Given the description of an element on the screen output the (x, y) to click on. 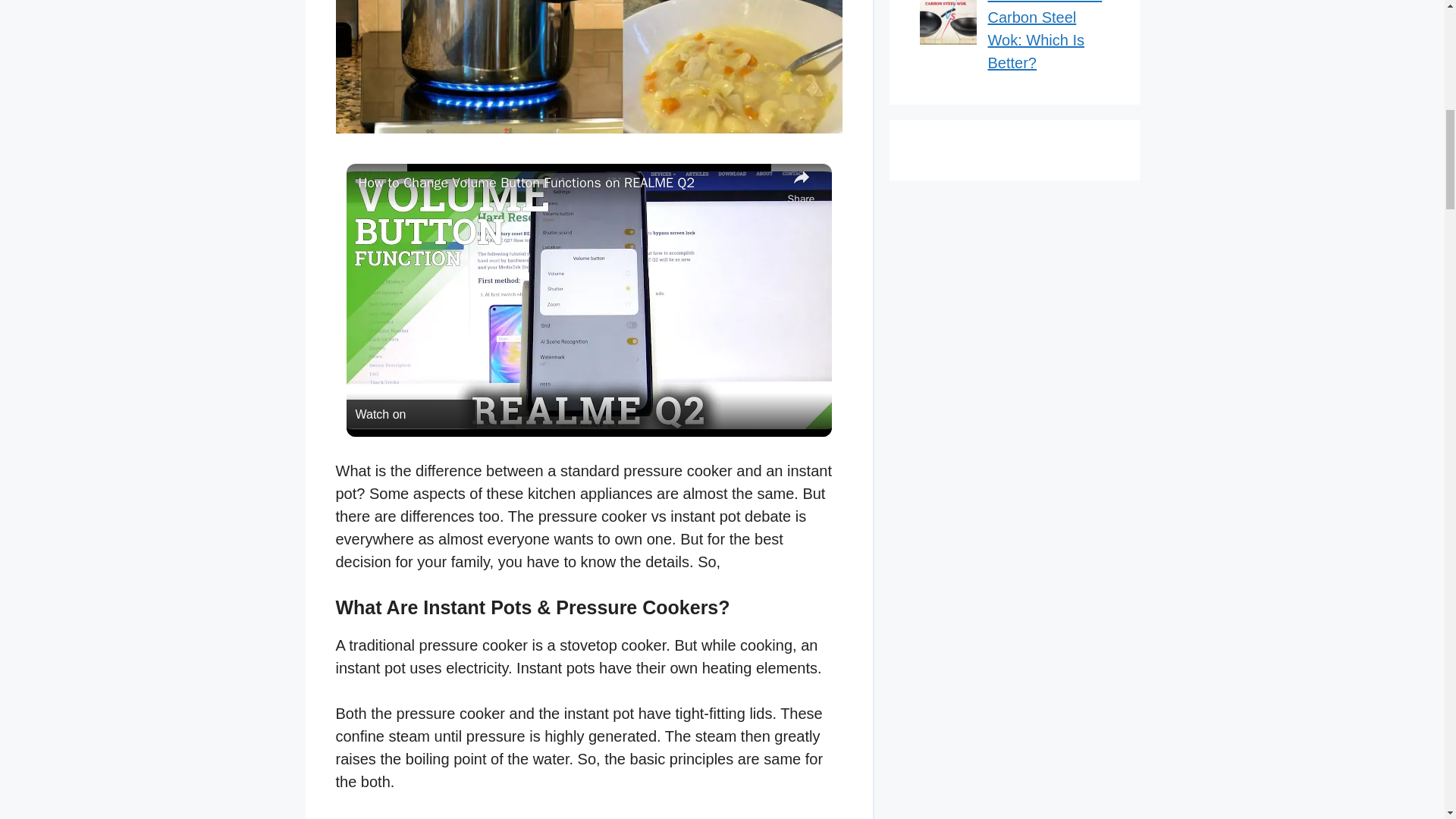
Watch on (411, 413)
How to Change Volume Button Functions on REALME Q2 (568, 182)
Nonstick Wok Vs Carbon Steel Wok: Which Is Better? (1044, 35)
